Given the description of an element on the screen output the (x, y) to click on. 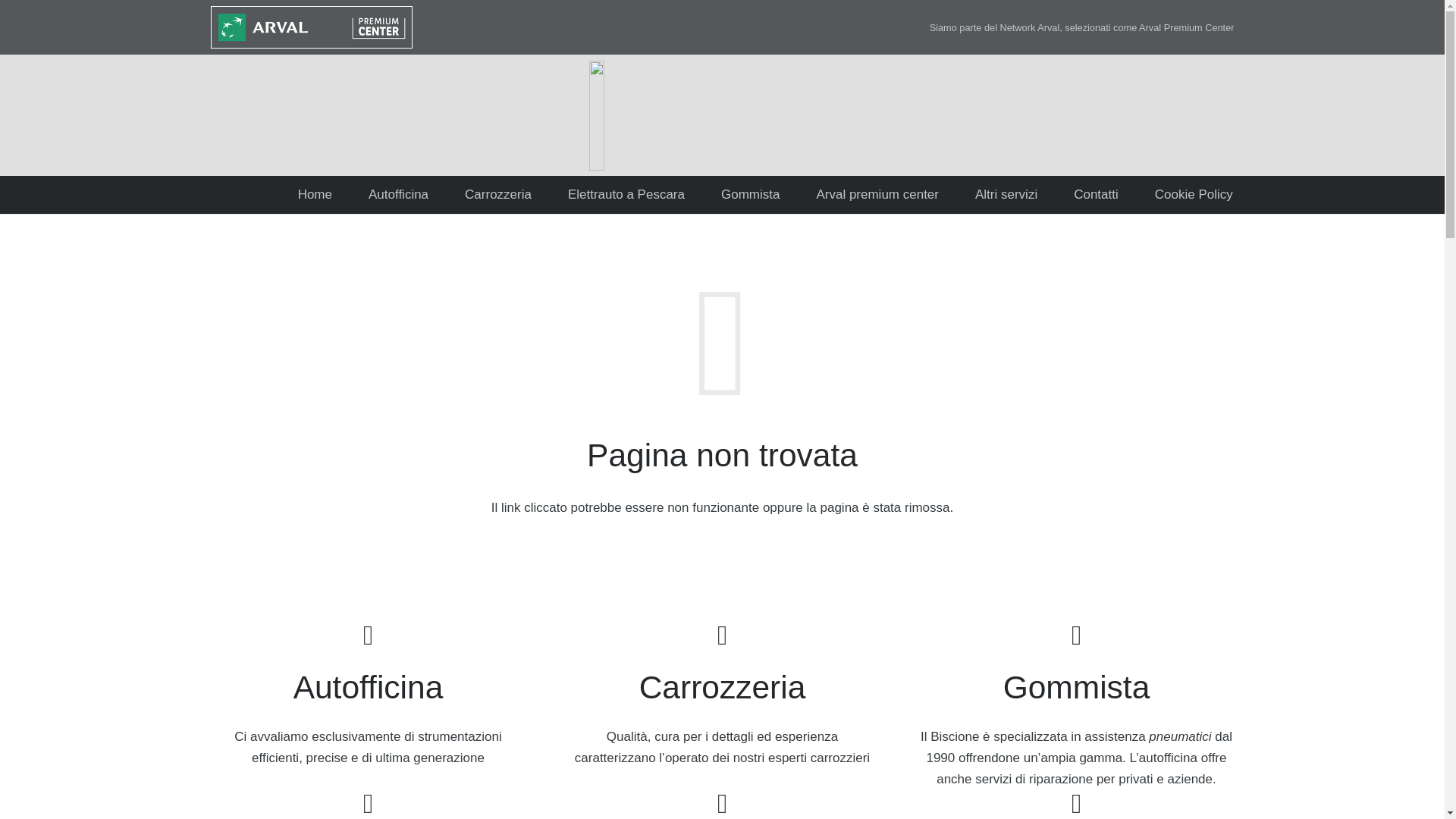
Elettrauto a Pescara (626, 194)
Arval premium center (876, 194)
Gommista (750, 194)
Carrozzeria (498, 194)
Autofficina (398, 194)
Altri servizi (1005, 194)
Arval Premium Center (1185, 27)
Contatti (1096, 194)
Cookie Policy (1193, 194)
Home (314, 194)
